Given the description of an element on the screen output the (x, y) to click on. 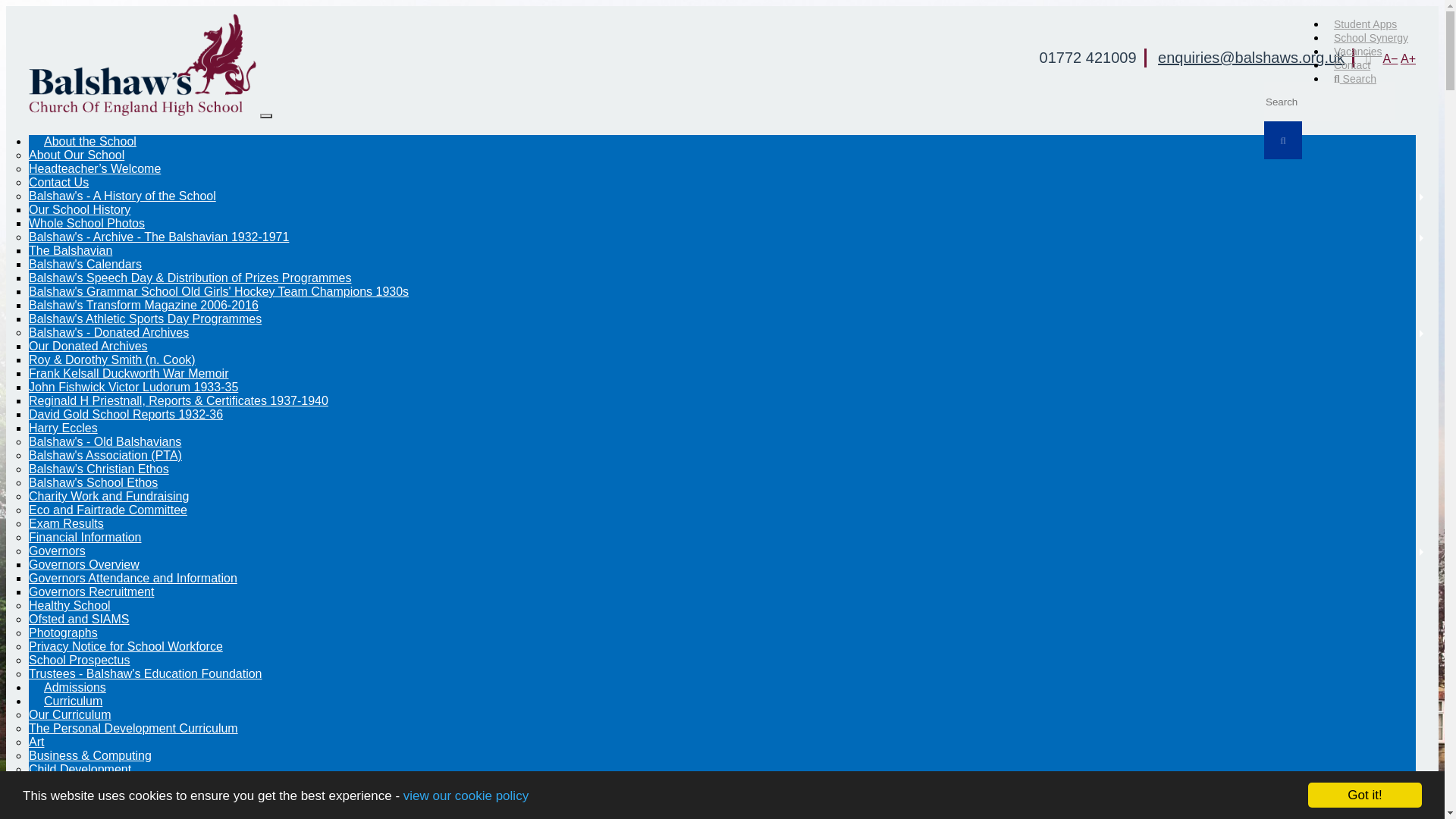
Vacancies (1358, 51)
Student Apps (1365, 23)
Frank Kelsall Duckworth War Memoir (128, 373)
Our School History (80, 209)
David Gold School Reports 1932-36 (125, 414)
Balshaw's - Donated Archives (109, 332)
John Fishwick Victor Ludorum 1933-35 (133, 387)
The Balshavian (70, 250)
School Synergy (1370, 37)
Toggle menu (266, 115)
Balshaw's Calendars (85, 264)
Search (1355, 78)
About the School (90, 141)
Balshaw's Athletic Sports Day Programmes (145, 318)
